Given the description of an element on the screen output the (x, y) to click on. 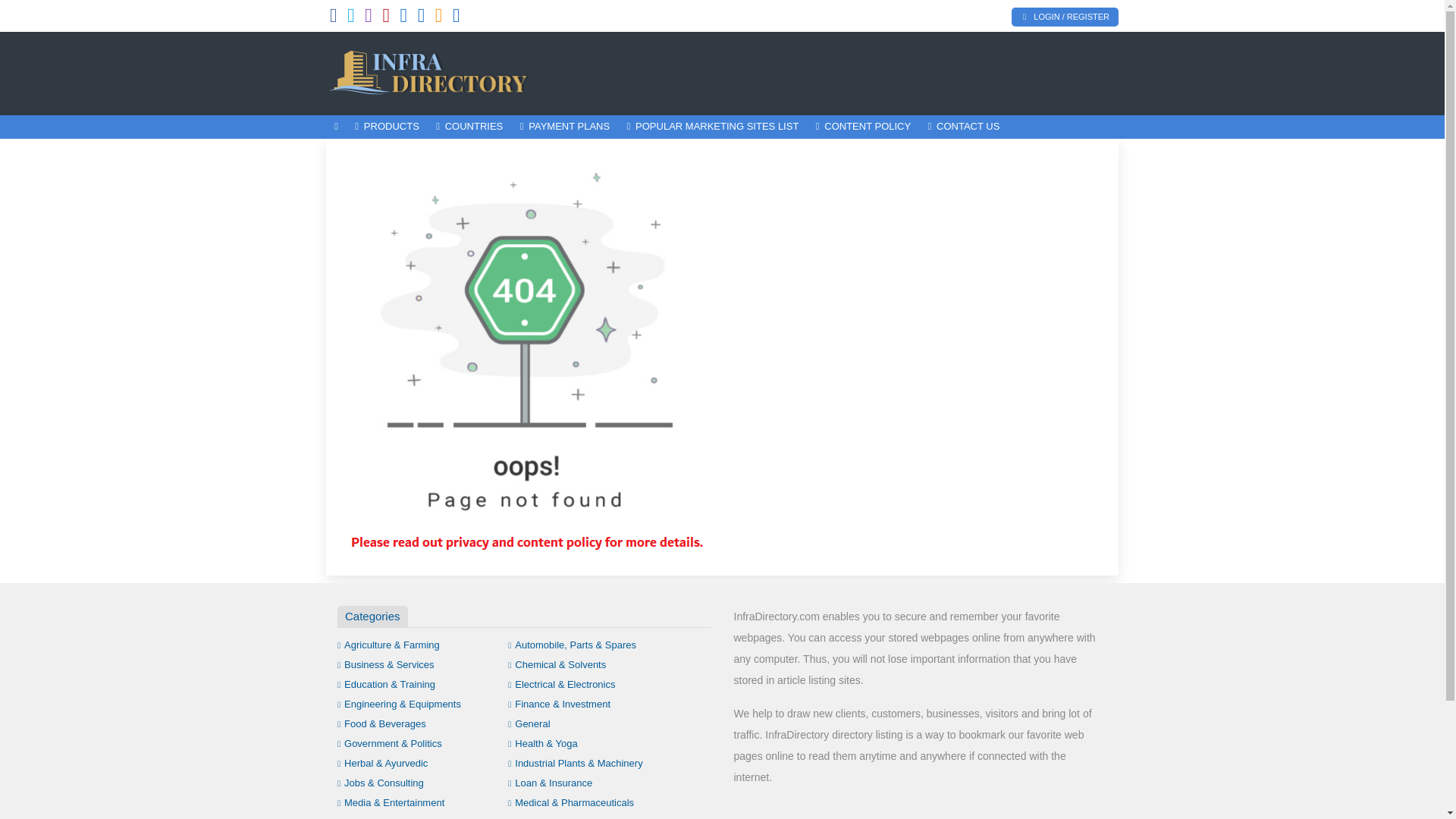
POPULAR MARKETING SITES LIST (711, 126)
PRODUCTS (387, 126)
COUNTRIES (469, 126)
CONTENT POLICY (864, 126)
General (529, 723)
PAYMENT PLANS (564, 126)
CONTACT US (962, 126)
